Given the description of an element on the screen output the (x, y) to click on. 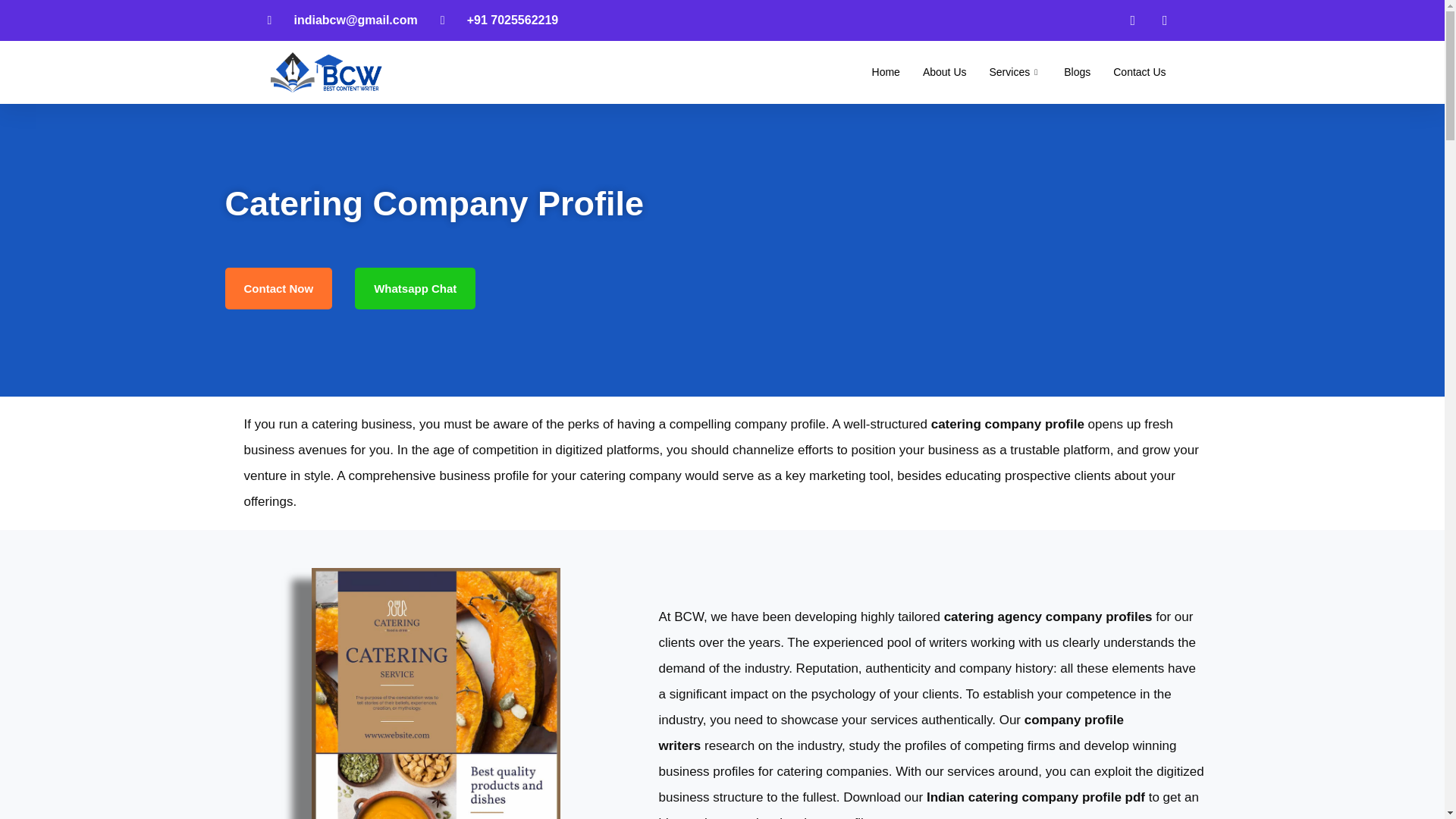
About Us (944, 71)
Contact Us (1139, 71)
Home (885, 71)
Blogs (1077, 71)
Services (1015, 71)
